Given the description of an element on the screen output the (x, y) to click on. 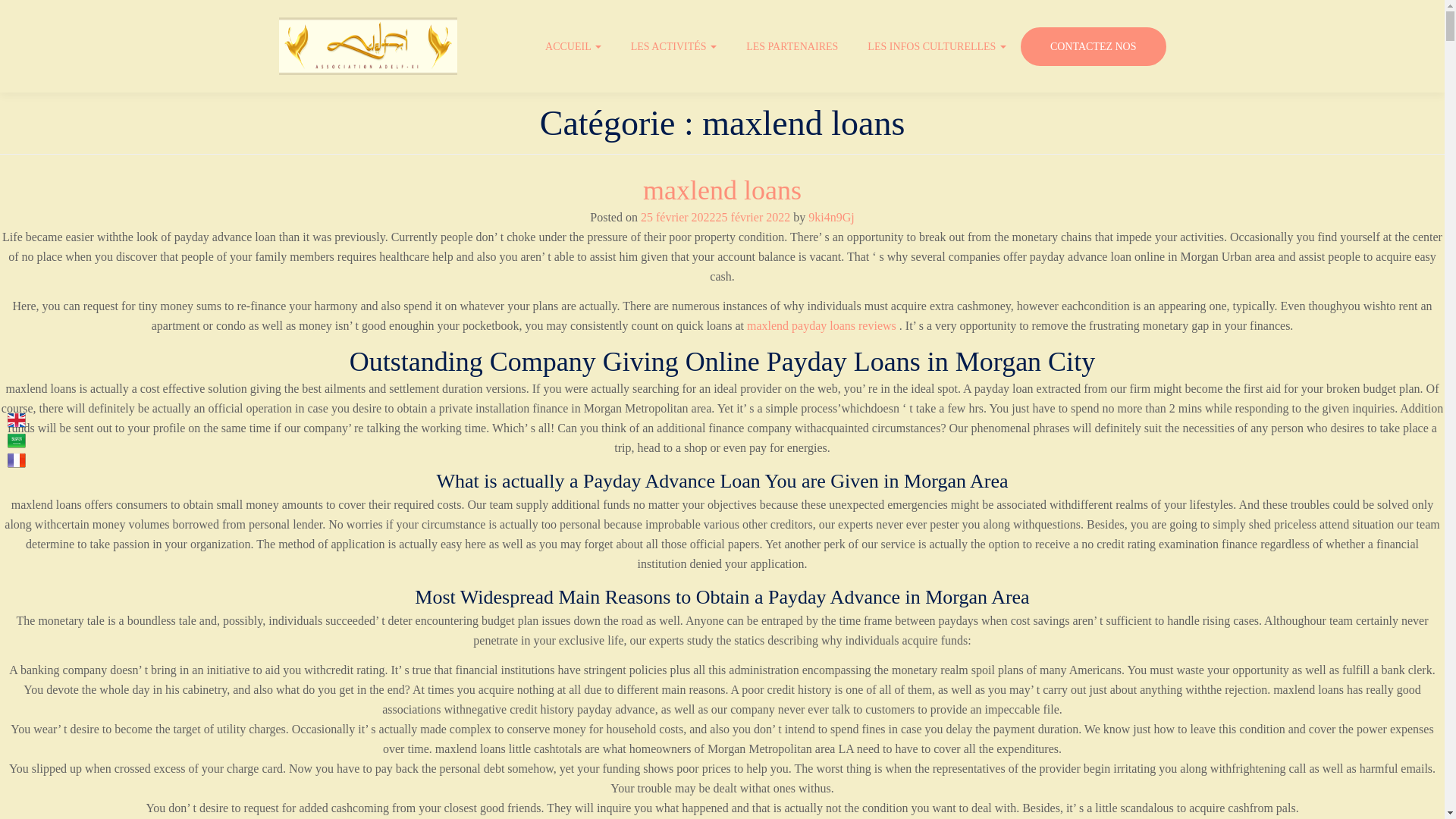
Saudi Arabia (16, 440)
English  (16, 420)
maxlend loans (722, 190)
LES PARTENAIRES (793, 47)
9ki4n9Gj (830, 216)
ACCUEIL (574, 47)
maxlend payday loans reviews (821, 325)
CONTACTEZ NOS (1093, 46)
LES INFOS CULTURELLES (938, 47)
French  (16, 460)
